Given the description of an element on the screen output the (x, y) to click on. 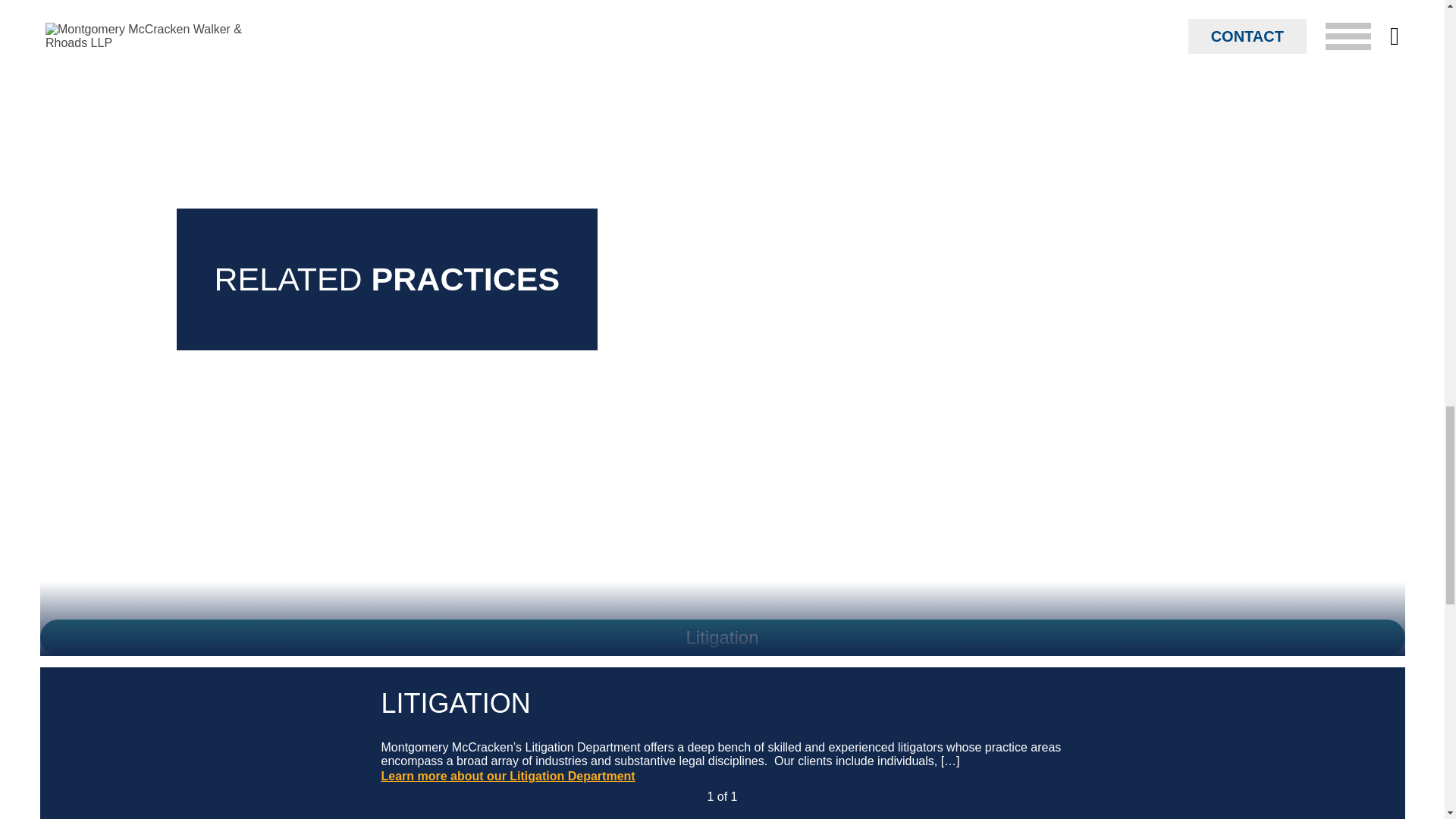
Labor and Employment attorneys (503, 81)
Litigation (722, 637)
Learn more about our Litigation Department (507, 775)
